Given the description of an element on the screen output the (x, y) to click on. 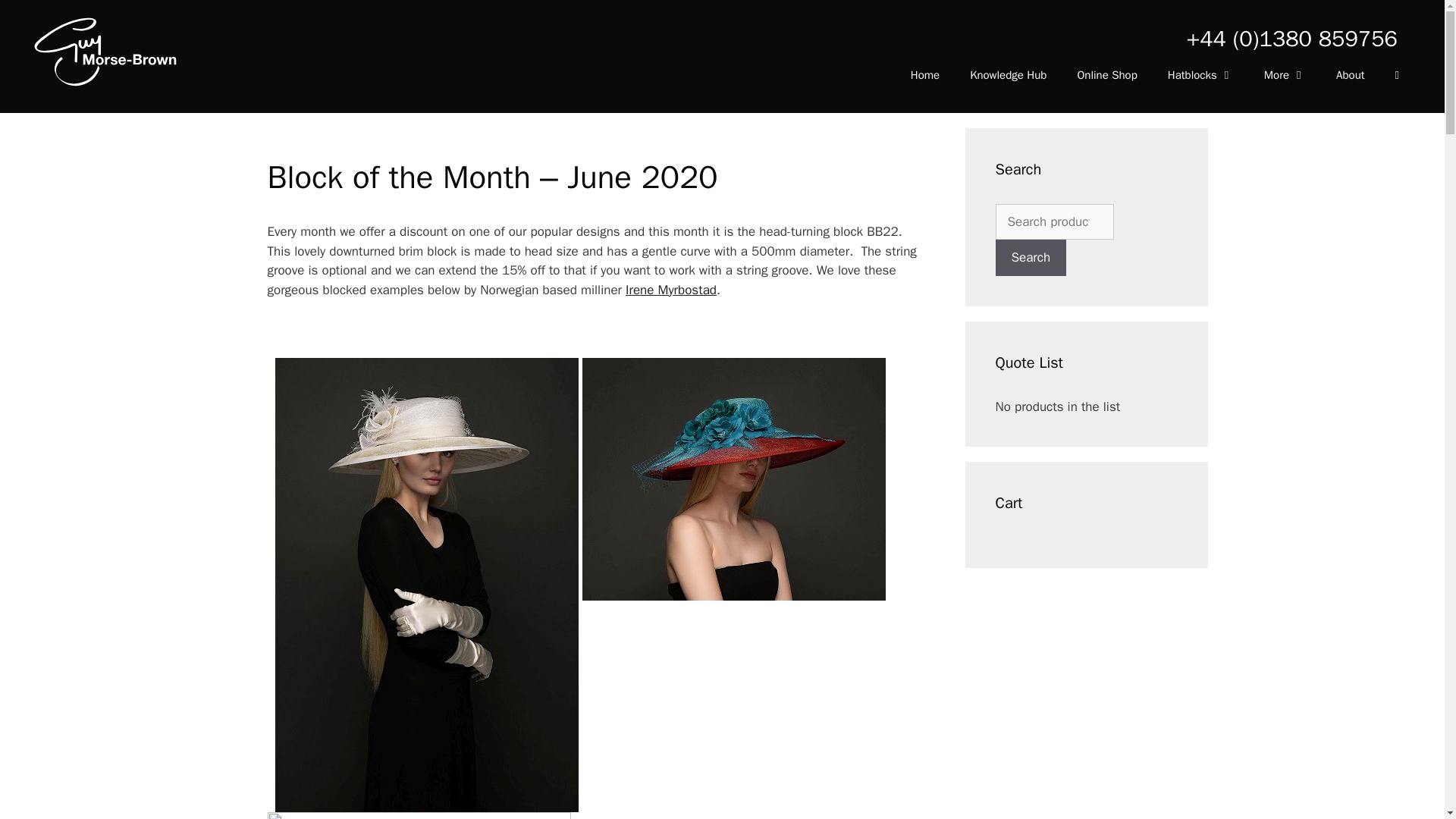
Knowledge Hub (1008, 74)
More (1284, 74)
Home (925, 74)
Hatblocks (1201, 74)
Online Shop (1106, 74)
